Given the description of an element on the screen output the (x, y) to click on. 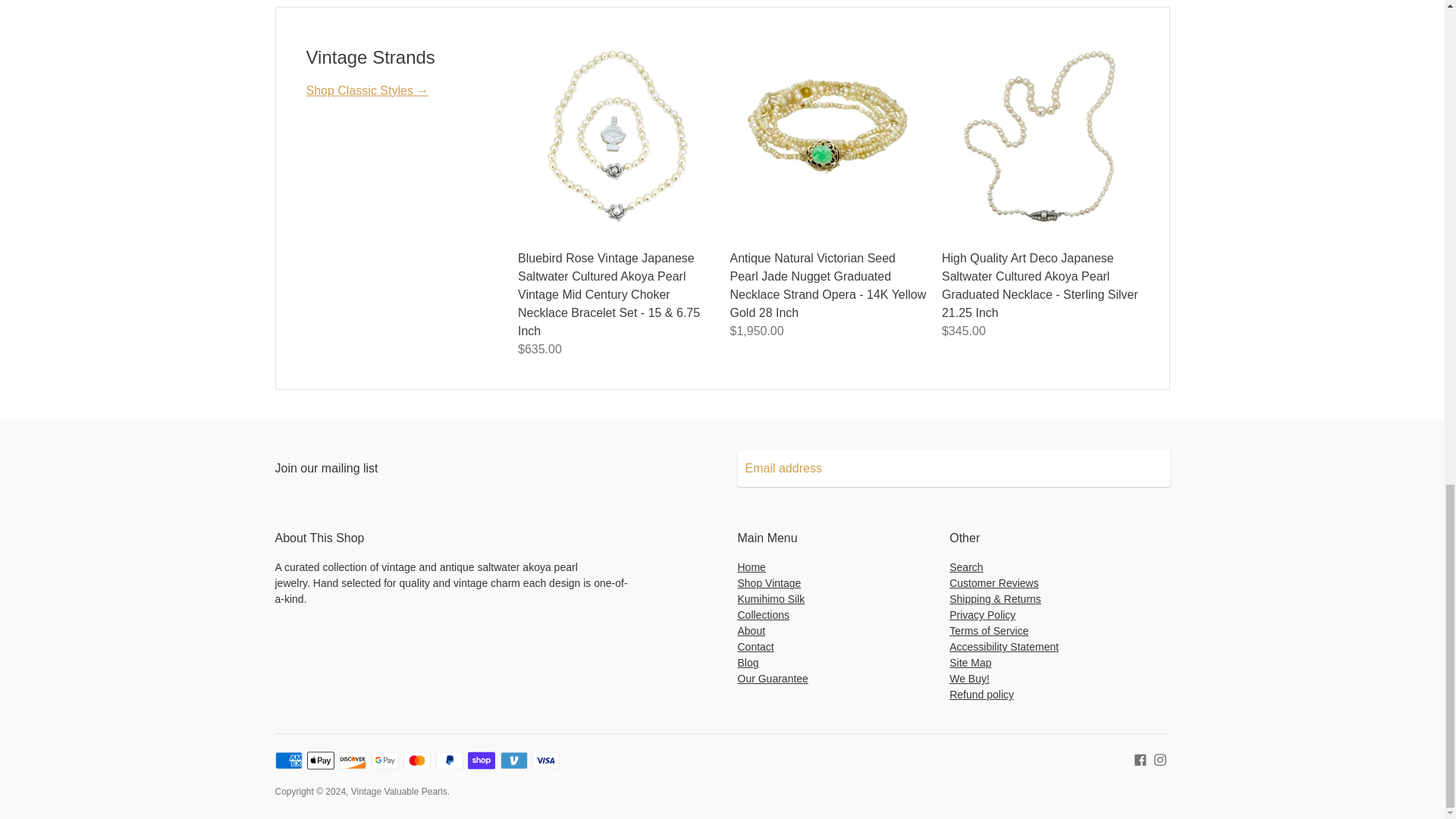
Mastercard (416, 760)
Vintage Valuable Pearls on Facebook (1140, 758)
Google Pay (384, 760)
Vintage Valuable Pearls on Instagram (1160, 758)
PayPal (449, 760)
American Express (288, 760)
Discover (352, 760)
Venmo (513, 760)
Apple Pay (320, 760)
Shop Pay (481, 760)
